Given the description of an element on the screen output the (x, y) to click on. 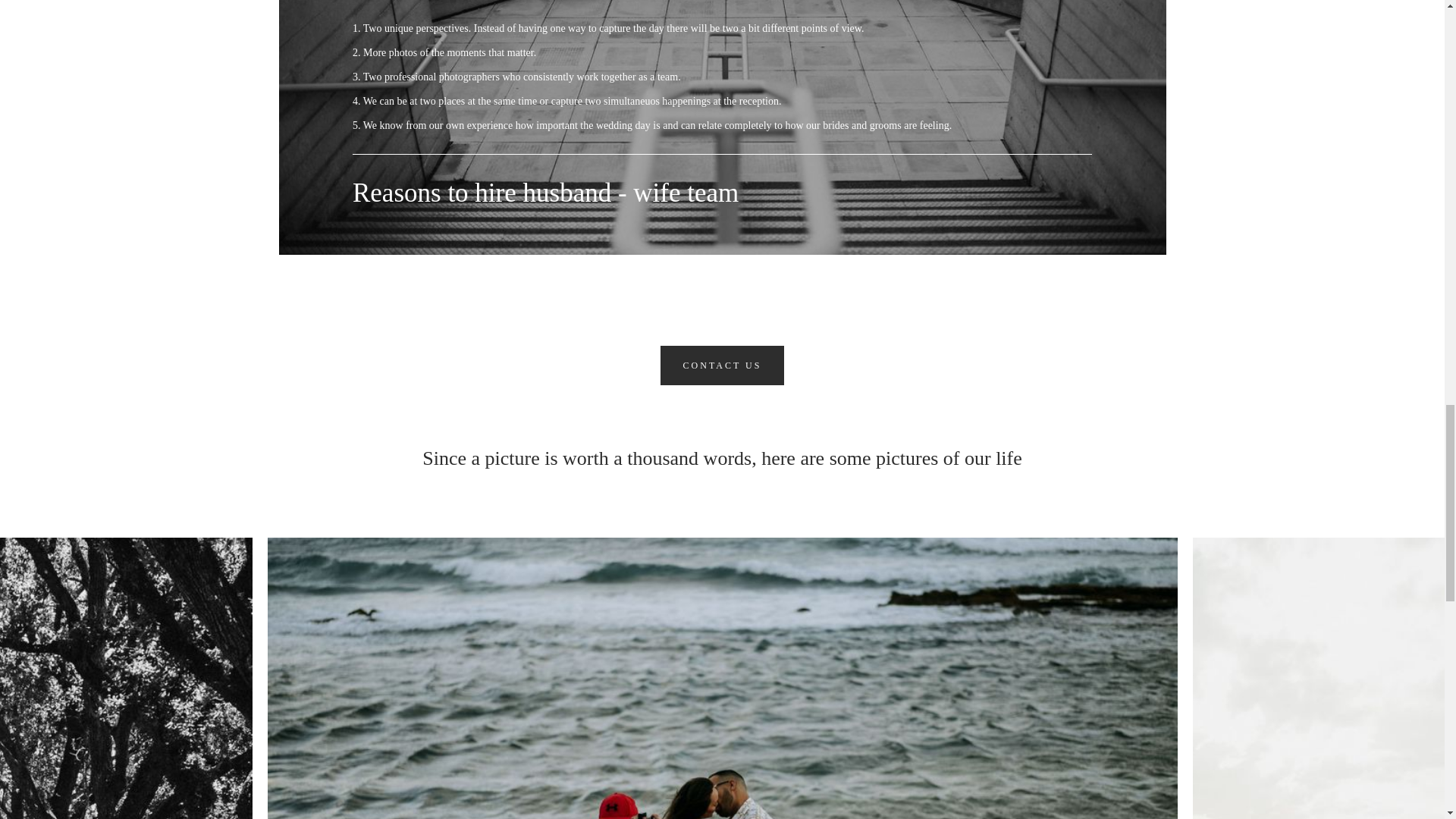
CONTACT US (722, 364)
